Given the description of an element on the screen output the (x, y) to click on. 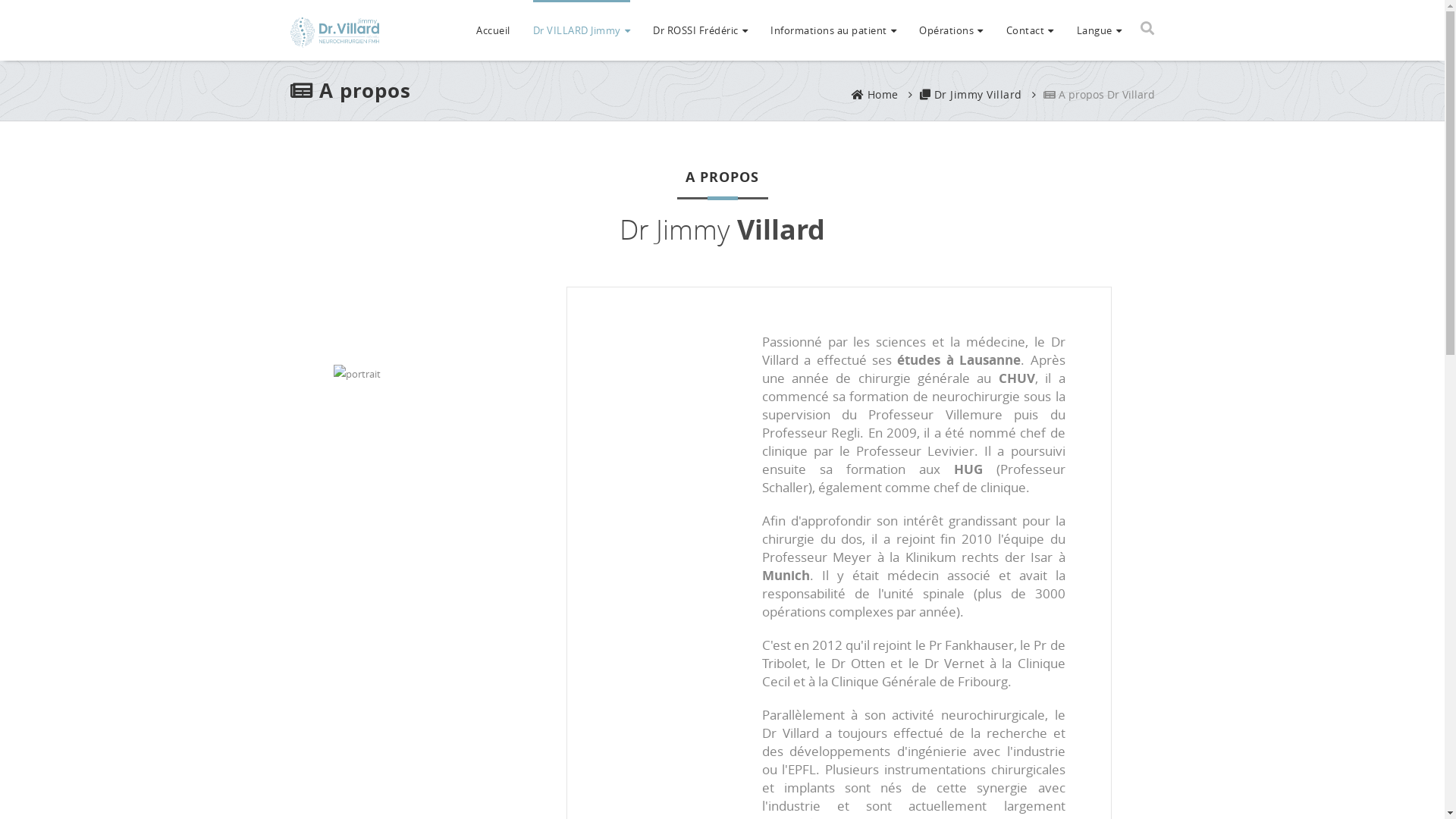
Accueil Element type: text (493, 28)
Home Element type: text (873, 94)
Contact Element type: text (1029, 29)
Dr Jimmy Villard Element type: text (970, 94)
Langue Element type: text (1099, 29)
Informations au patient Element type: text (833, 29)
Dr VILLARD Jimmy Element type: text (581, 29)
